Given the description of an element on the screen output the (x, y) to click on. 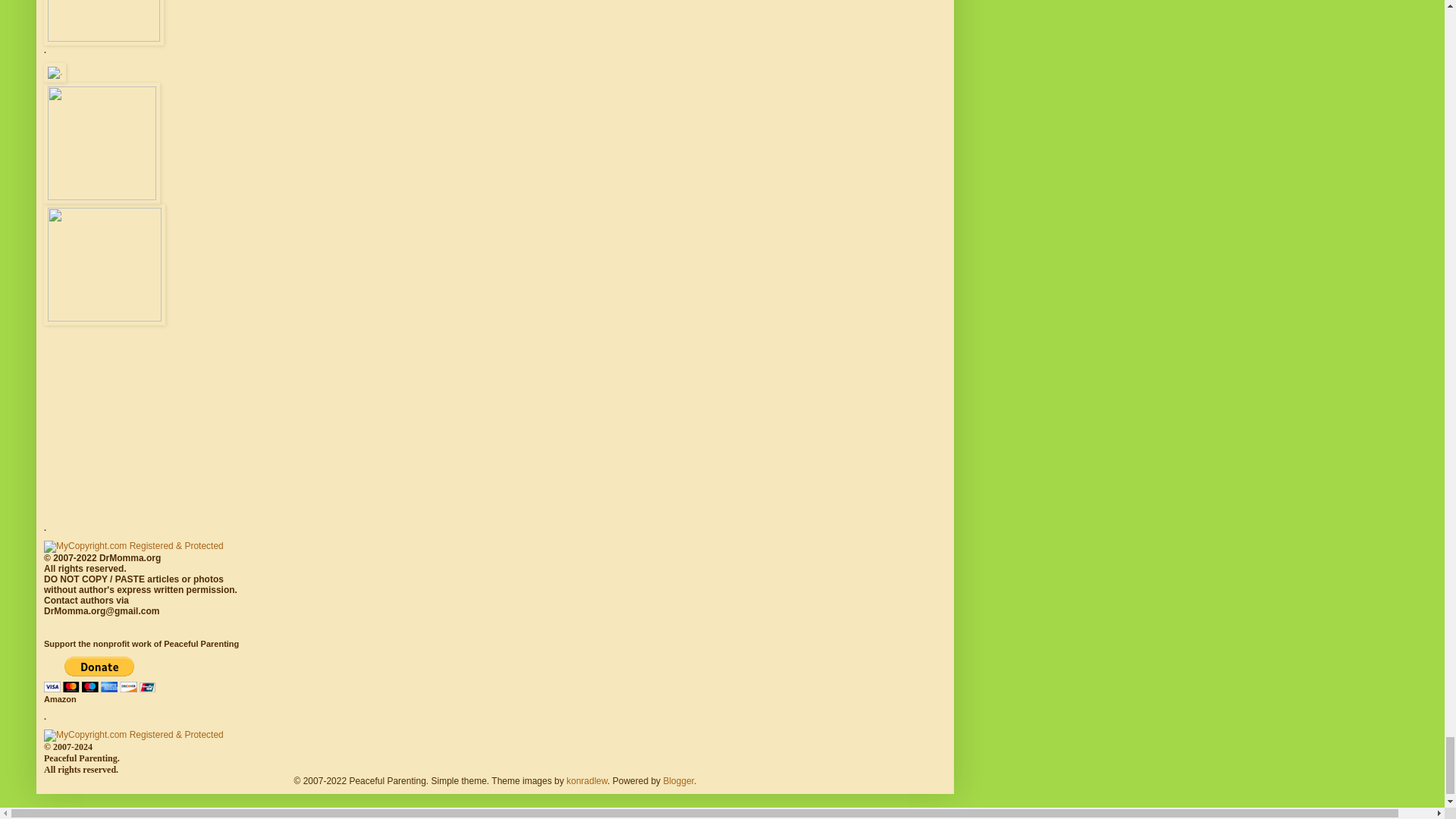
PayPal - The safer, easier way to pay online! (99, 674)
